Given the description of an element on the screen output the (x, y) to click on. 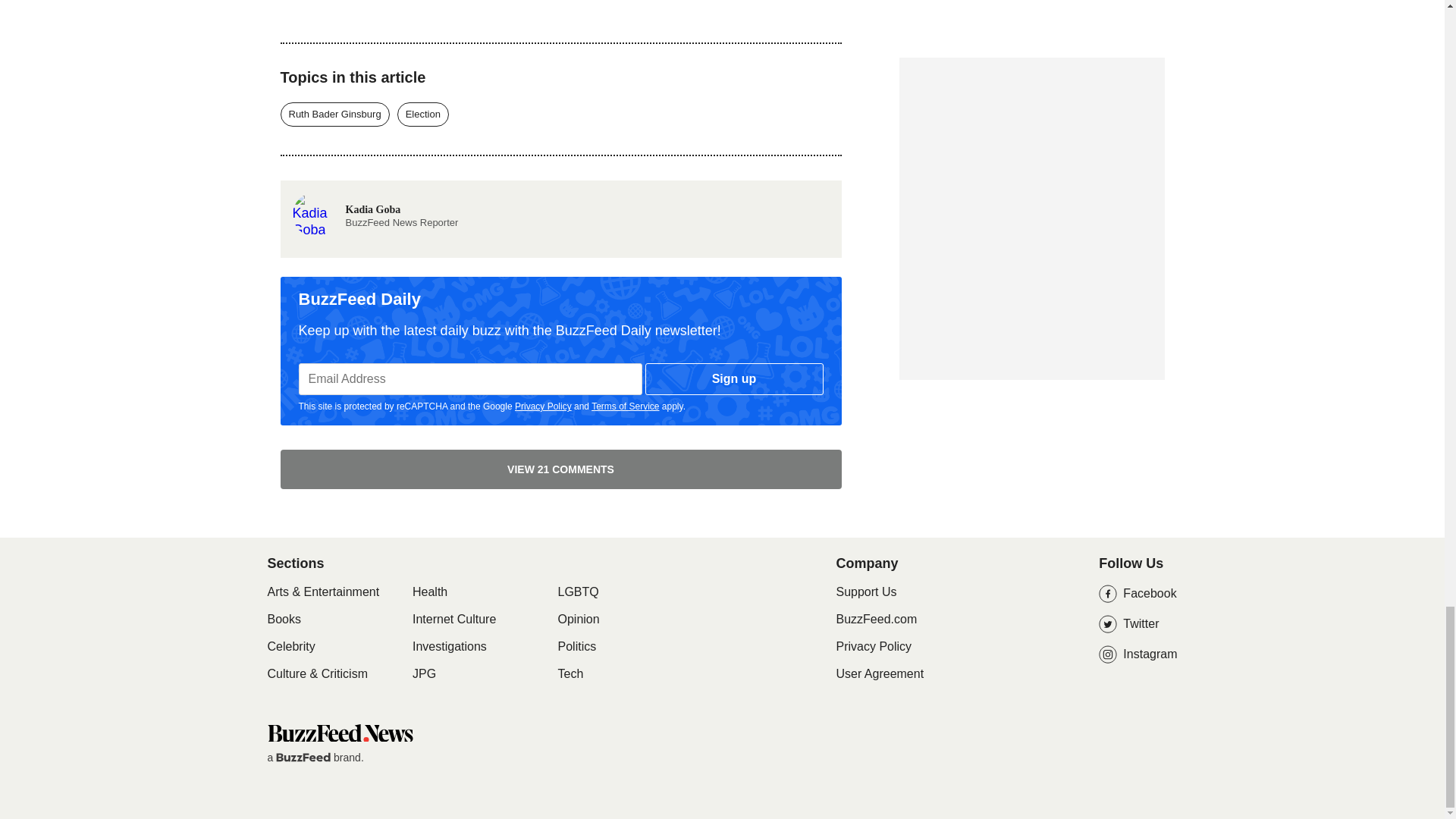
Sign up (734, 378)
Ruth Bader Ginsburg (335, 114)
Privacy Policy (543, 406)
BuzzFeed (303, 757)
BuzzFeed News Home (339, 732)
VIEW 21 COMMENTS (561, 468)
Election (375, 212)
Terms of Service (422, 114)
